Given the description of an element on the screen output the (x, y) to click on. 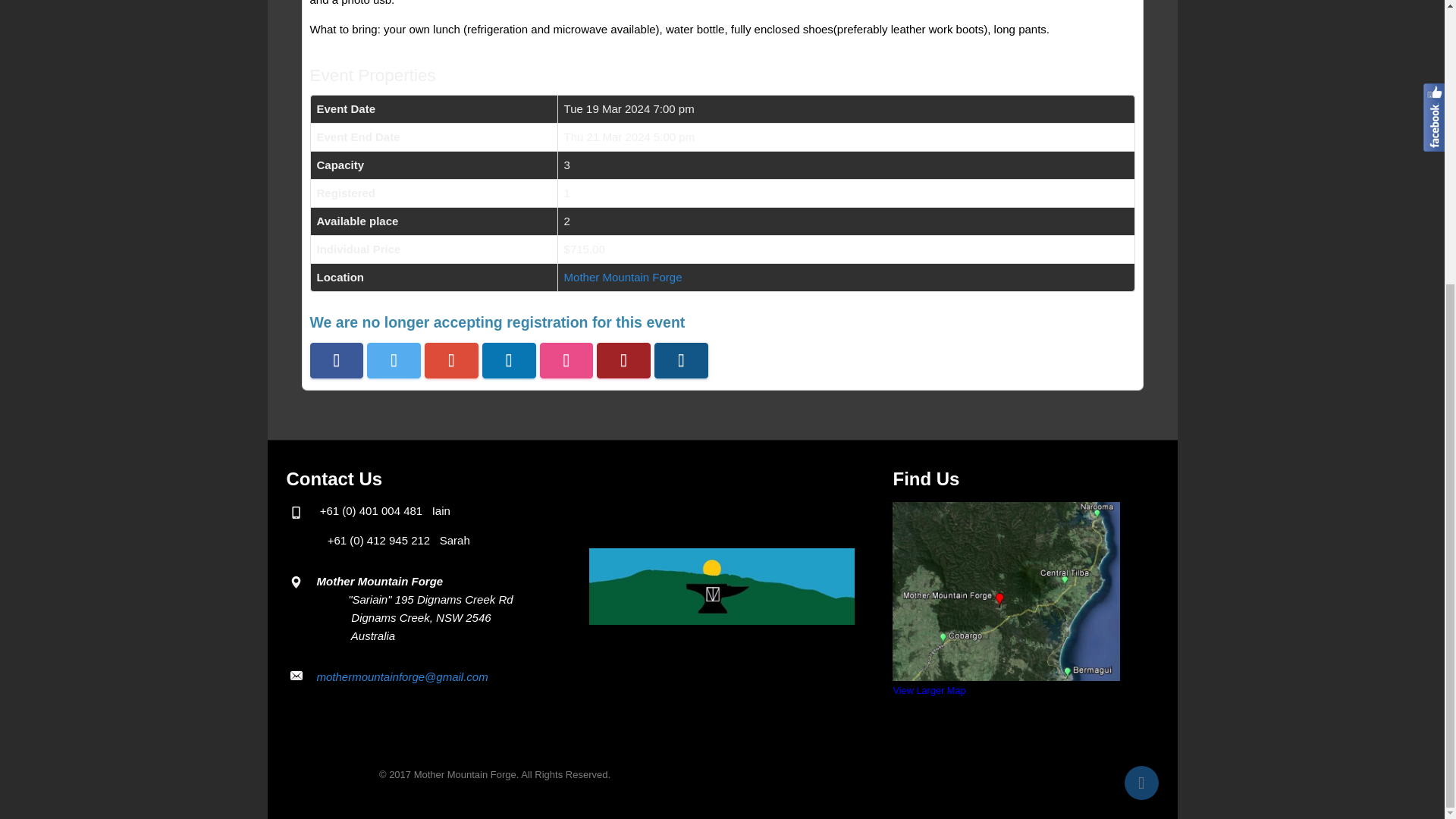
Submit Hunting Knife Making    in Delicious (567, 360)
Mother Mountain Forge (623, 277)
Submit Hunting Knife Making    in Pinterest (680, 360)
Submit Hunting Knife Making    in LinkedIn (508, 360)
Mother Mountain Forge (623, 277)
Submit Hunting Knife Making    in FaceBook (335, 360)
Submit Hunting Knife Making    in Twitter (393, 360)
Submit Hunting Knife Making    in Google Bookmarks (452, 360)
Submit Hunting Knife Making    in Digg (623, 360)
